Given the description of an element on the screen output the (x, y) to click on. 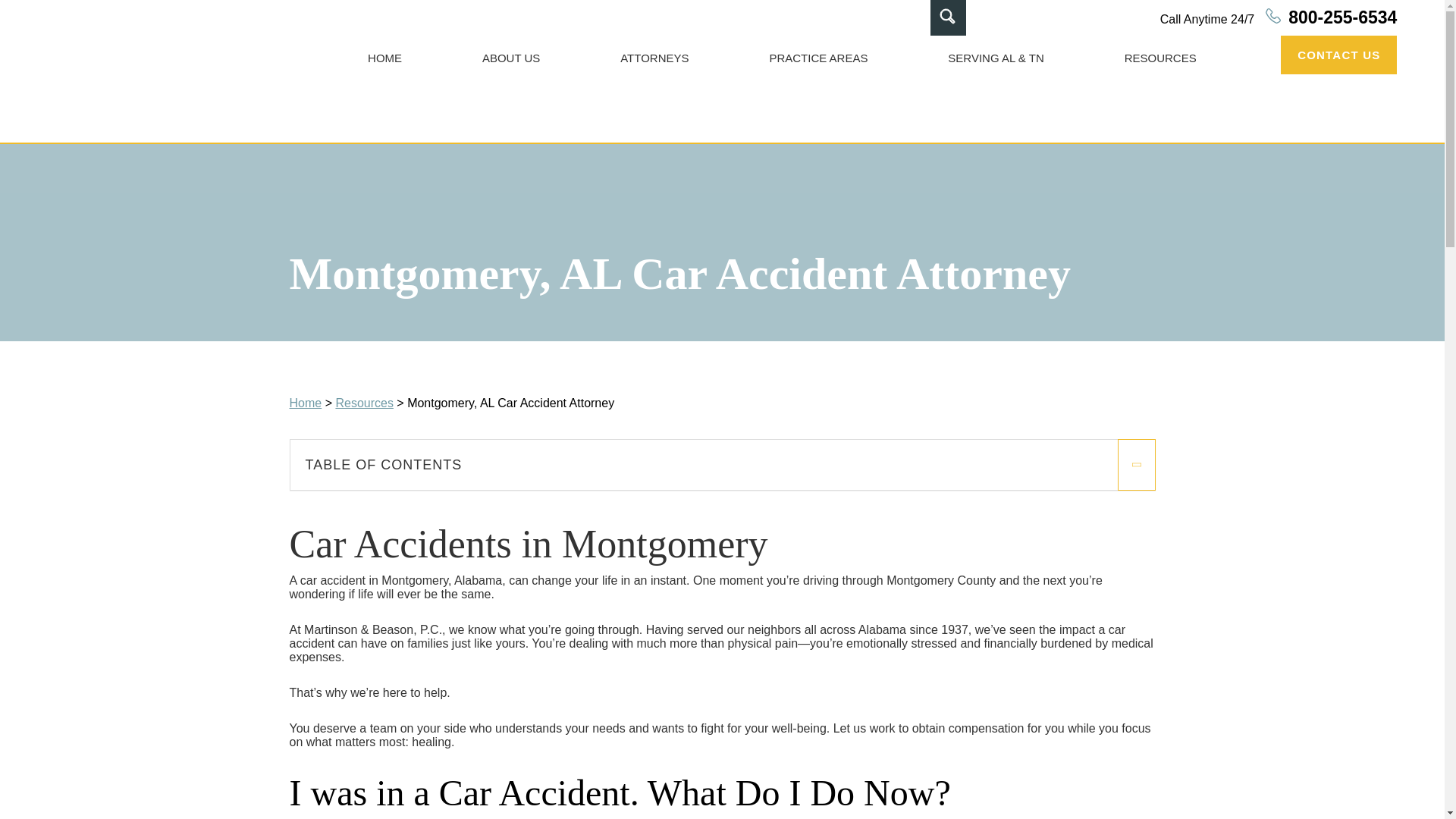
ATTORNEYS (654, 57)
PRACTICE AREAS (817, 57)
HOME (384, 57)
ABOUT US (510, 57)
Call to 800-255-6534 (1278, 17)
